Given the description of an element on the screen output the (x, y) to click on. 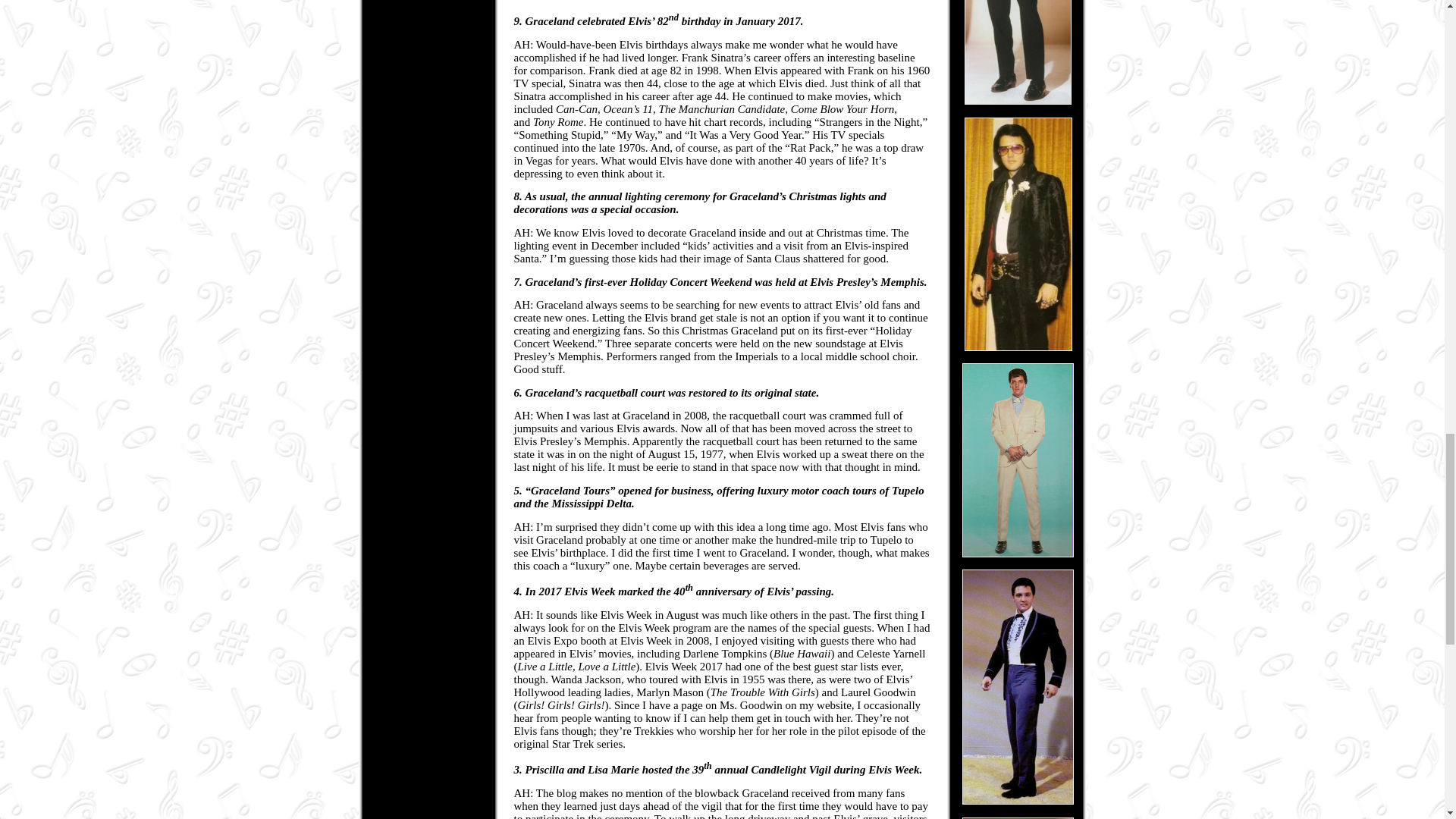
Trouble With Girls Standup 2 (1018, 818)
How Great LP photo (1018, 460)
Elvi in Frankie and Johnny (1018, 686)
